Given the description of an element on the screen output the (x, y) to click on. 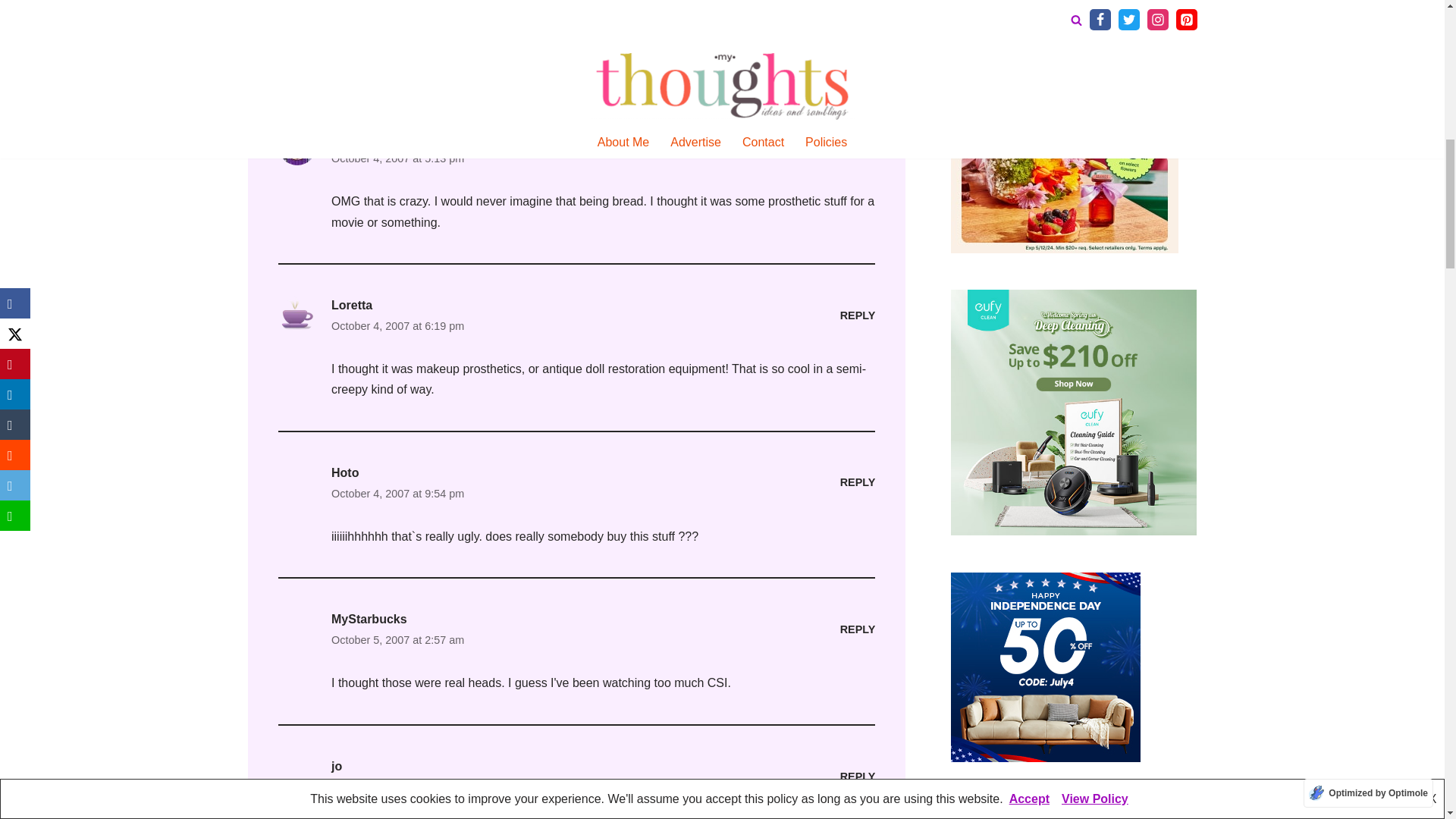
October 4, 2007 at 5:13 pm (396, 158)
Hoto (344, 472)
Loretta (350, 304)
REPLY (857, 147)
REPLY (857, 314)
October 4, 2007 at 9:54 pm (396, 492)
October 4, 2007 at 6:19 pm (396, 325)
Tina Silva (358, 137)
